Given the description of an element on the screen output the (x, y) to click on. 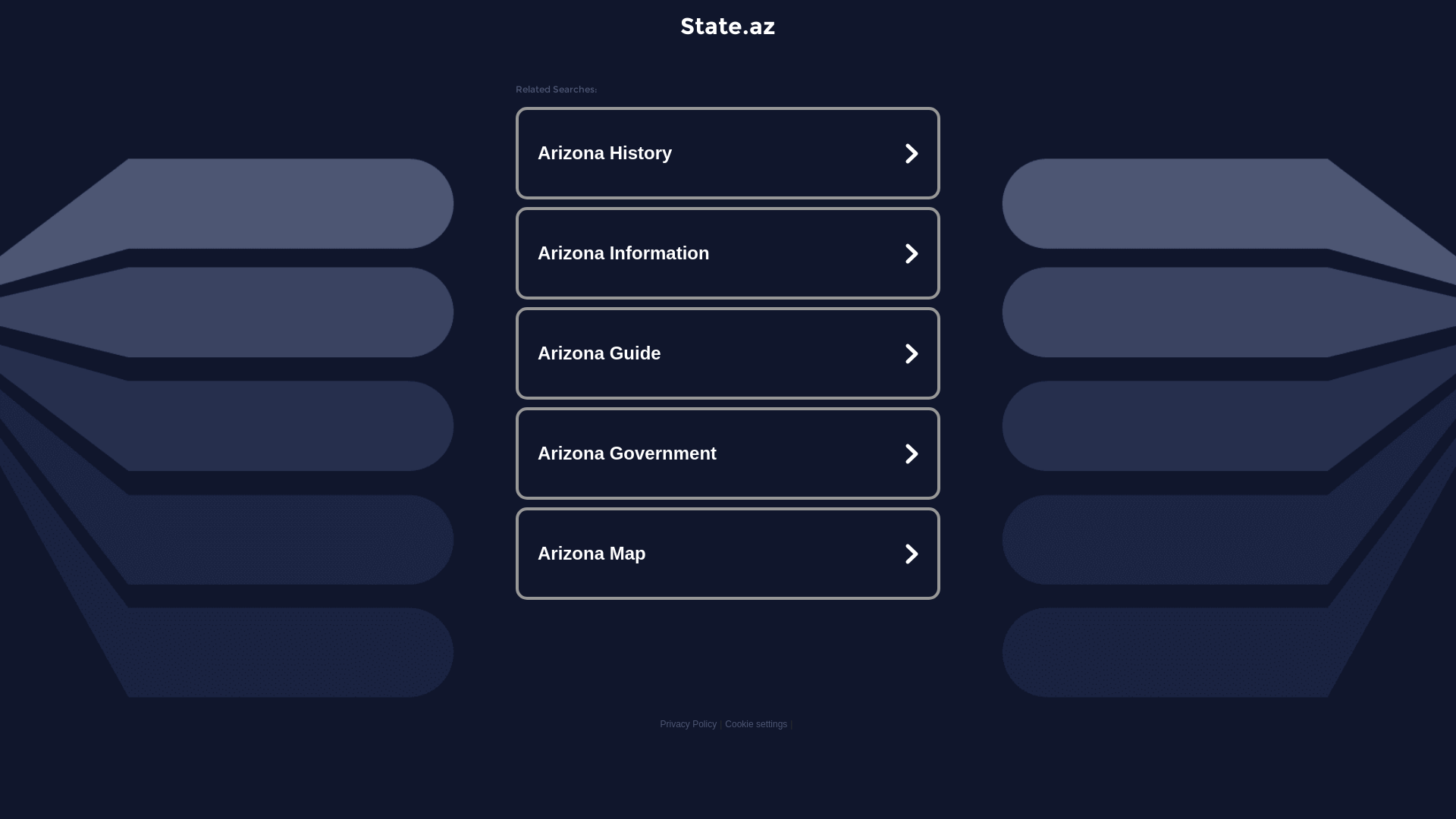
Privacy Policy Element type: text (687, 723)
Cookie settings Element type: text (755, 723)
Arizona Map Element type: text (727, 553)
Arizona Information Element type: text (727, 253)
Arizona Government Element type: text (727, 453)
Arizona Guide Element type: text (727, 353)
Arizona History Element type: text (727, 152)
State.az Element type: text (727, 26)
